Given the description of an element on the screen output the (x, y) to click on. 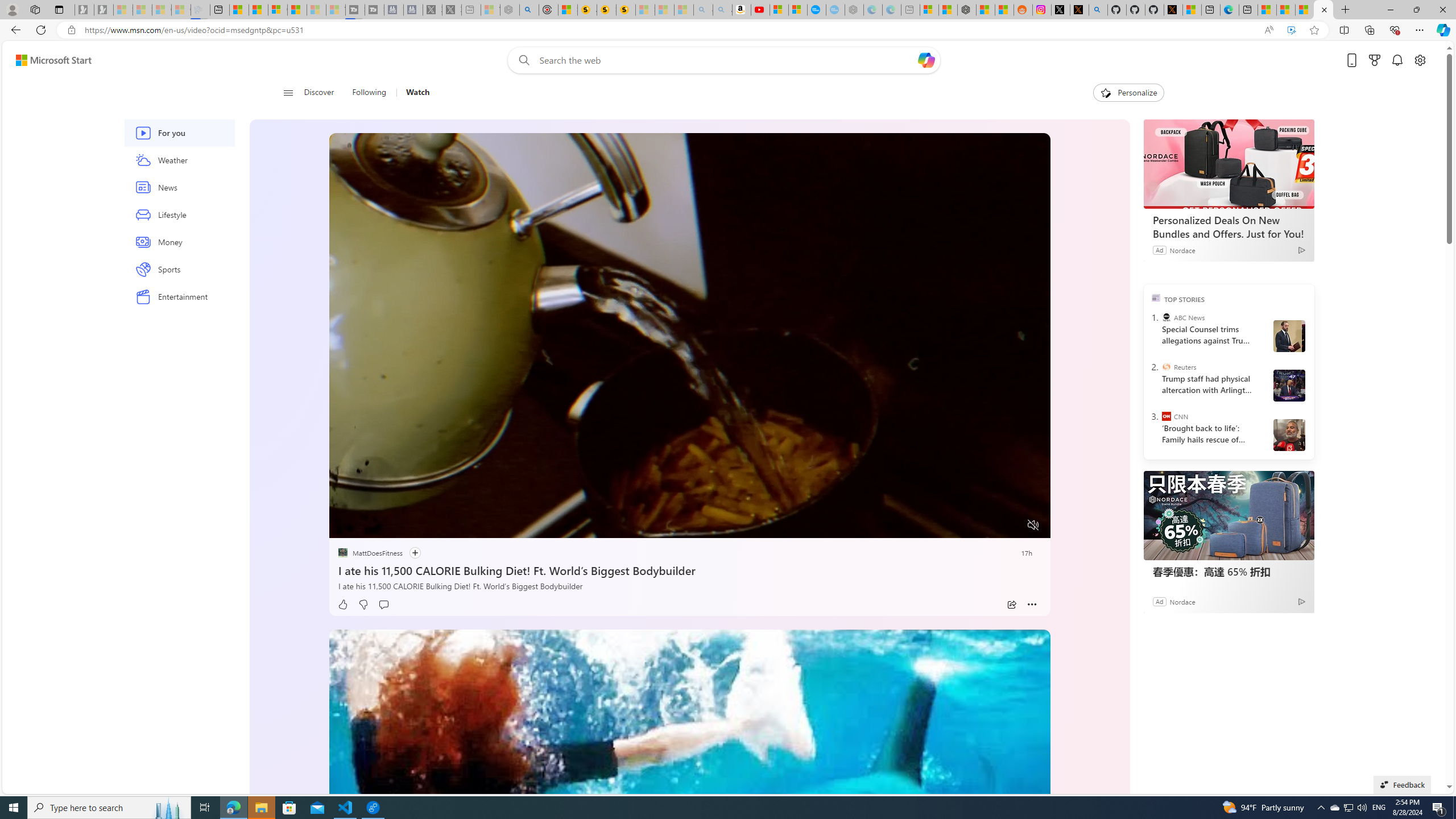
Progress Bar (689, 510)
Opinion: Op-Ed and Commentary - USA TODAY (816, 9)
Nordace - Nordace has arrived Hong Kong - Sleeping (853, 9)
Captions (988, 525)
